Given the description of an element on the screen output the (x, y) to click on. 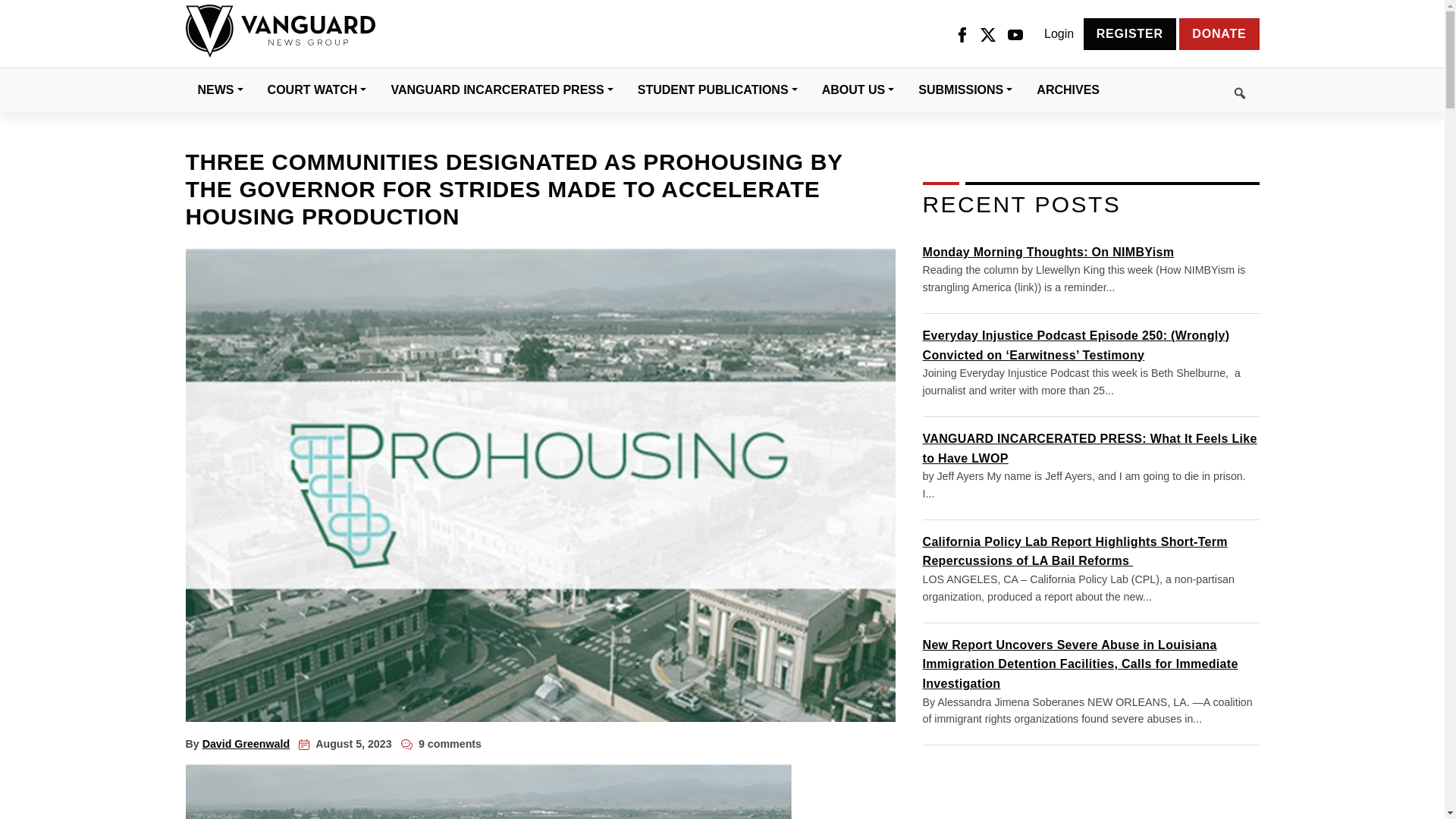
REGISTER (1129, 33)
NEWS (219, 89)
YouTube (1015, 34)
DONATE (1219, 33)
Search (1185, 90)
Facebook (962, 34)
Login (1058, 34)
Twitter (987, 34)
